Given the description of an element on the screen output the (x, y) to click on. 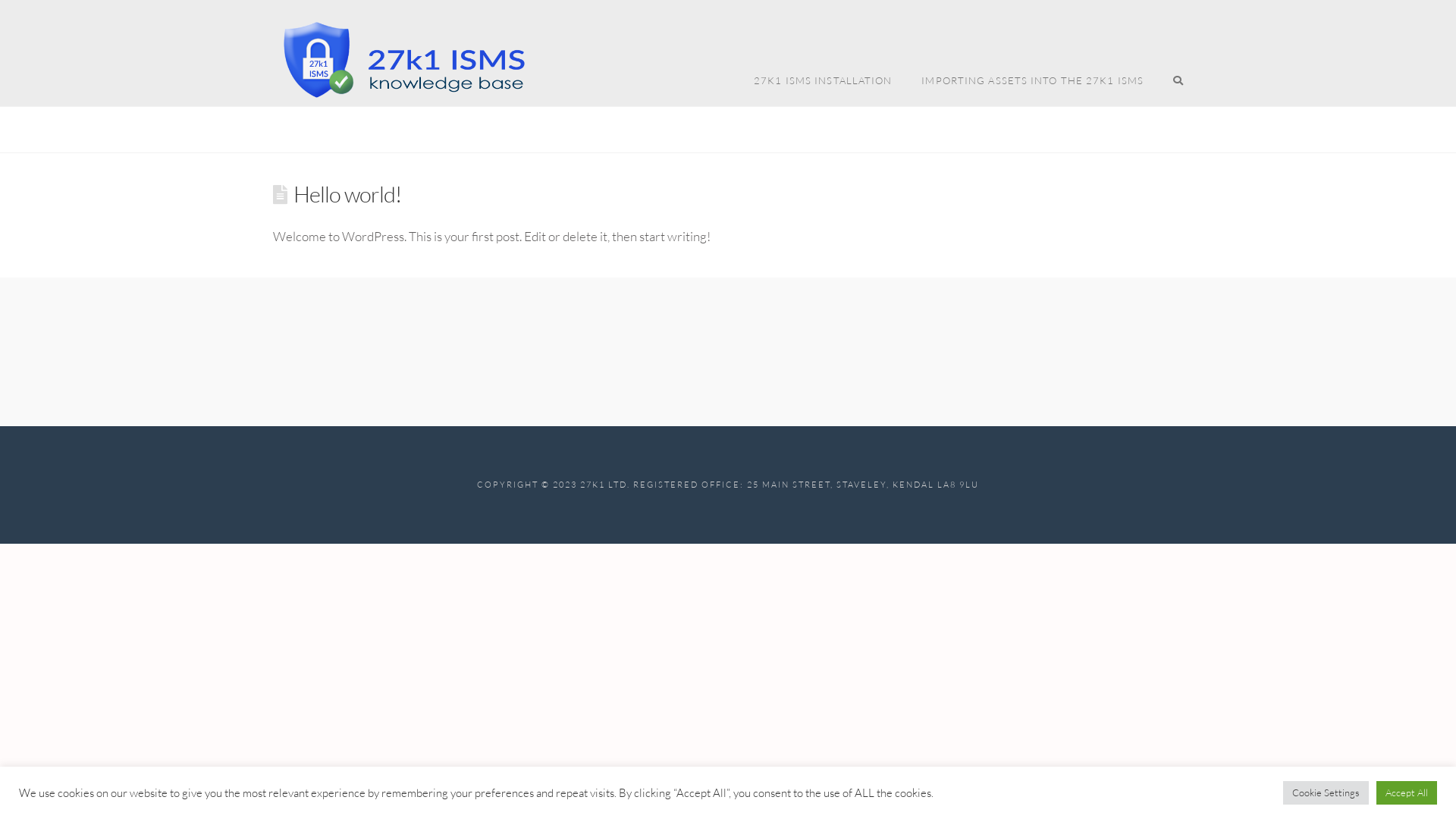
Accept All Element type: text (1406, 792)
27K1 ISMS INSTALLATION Element type: text (822, 53)
Cookie Settings Element type: text (1325, 792)
Hello world! Element type: text (347, 193)
IMPORTING ASSETS INTO THE 27K1 ISMS Element type: text (1031, 53)
